Given the description of an element on the screen output the (x, y) to click on. 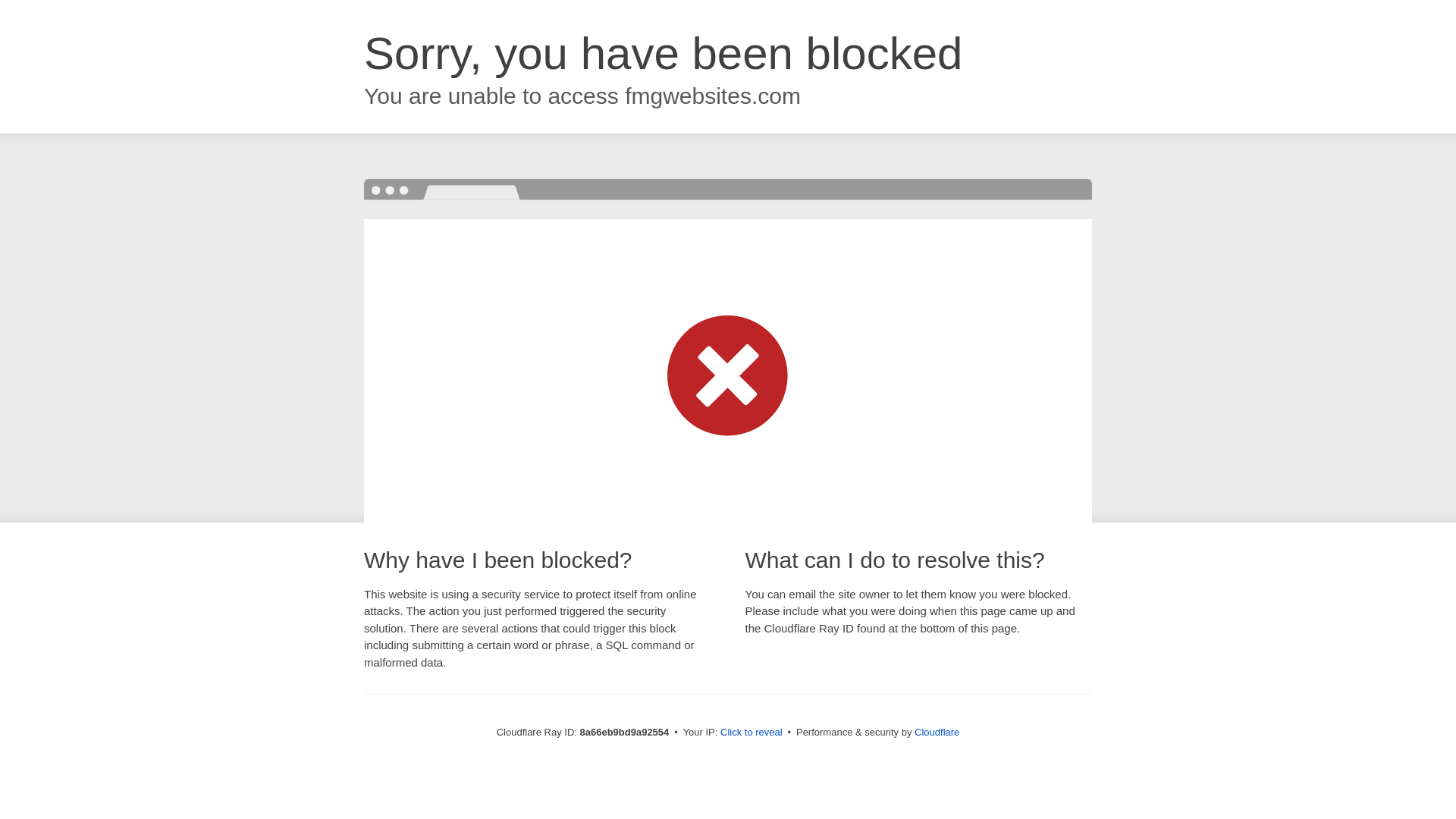
Cloudflare (936, 731)
Click to reveal (751, 732)
